Given the description of an element on the screen output the (x, y) to click on. 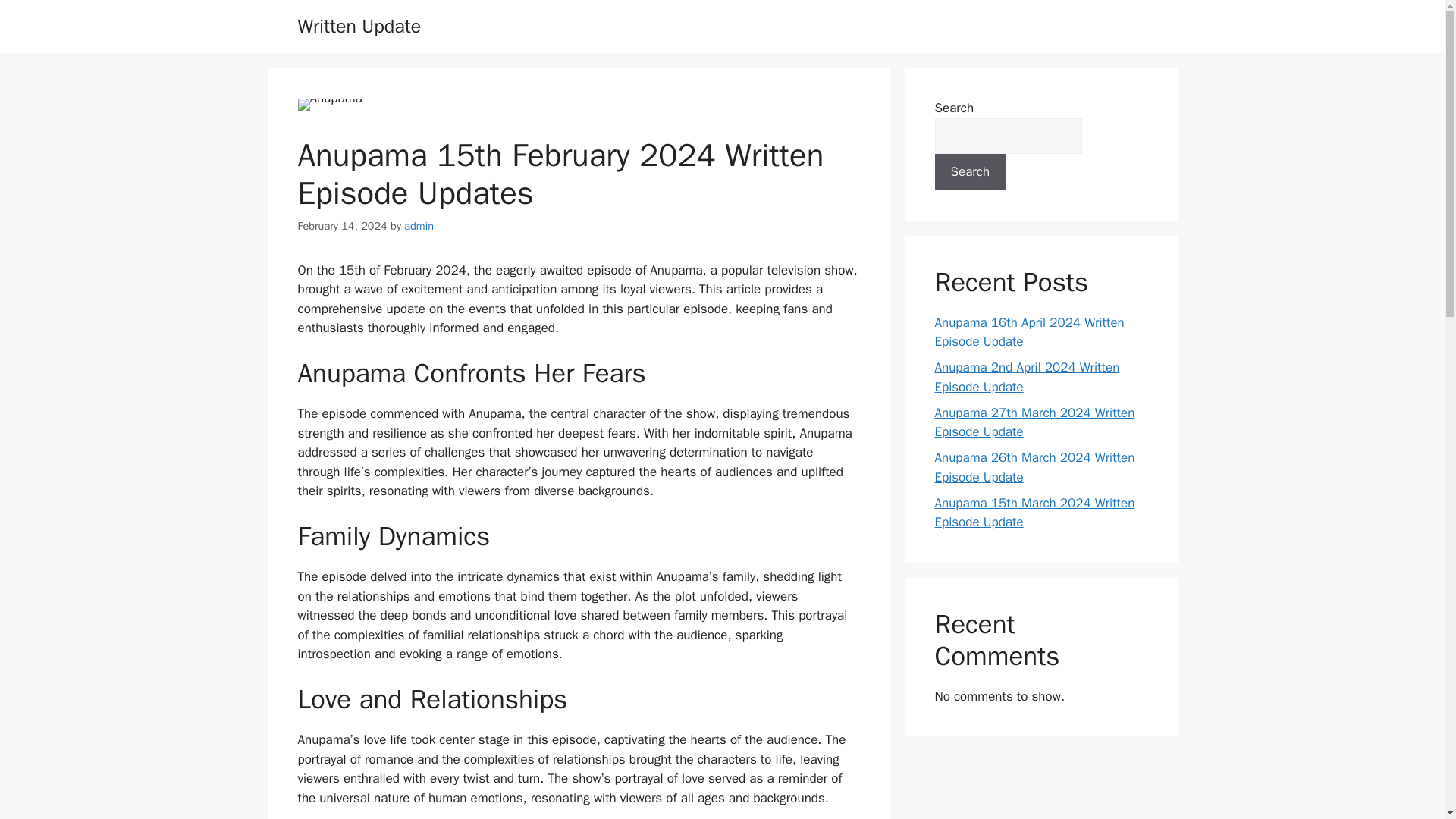
Anupama 27th March 2024 Written Episode Update (1034, 422)
Search (970, 171)
Anupama 15th March 2024 Written Episode Update (1034, 511)
admin (418, 225)
Anupama 2nd April 2024 Written Episode Update (1026, 376)
Anupama 26th March 2024 Written Episode Update (1034, 467)
Anupama 16th April 2024 Written Episode Update (1029, 331)
Written Update (358, 25)
View all posts by admin (418, 225)
